Given the description of an element on the screen output the (x, y) to click on. 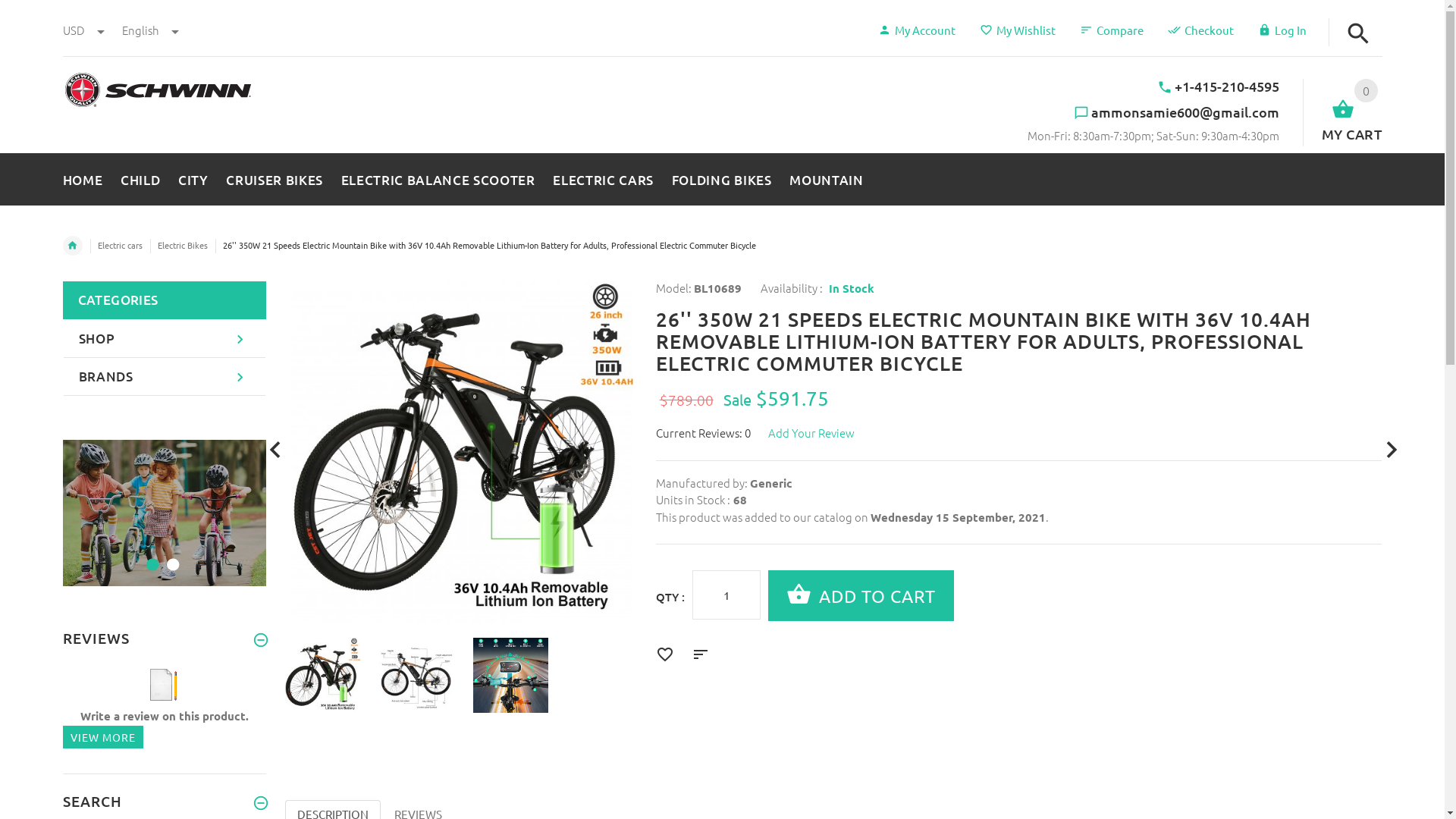
Add to Compare Element type: hover (704, 654)
1 Element type: text (150, 554)
Log In Element type: text (1281, 29)
CITY Element type: text (192, 176)
Write a review on this product. Element type: text (164, 699)
MOUNTAIN Element type: text (821, 176)
Electric cars Element type: text (119, 244)
English Element type: text (149, 29)
 Write a review on this product.  Element type: hover (163, 684)
Add to Wishlist Element type: hover (668, 654)
Compare Element type: text (1111, 29)
Electric Bikes Element type: text (182, 244)
Home Element type: text (71, 245)
2 Element type: text (170, 554)
ELECTRIC BALANCE SCOOTER Element type: text (438, 176)
 next   Element type: text (1391, 450)
FOLDING BIKES Element type: text (721, 176)
CHILD Element type: text (140, 176)
ELECTRIC CARS Element type: text (603, 176)
0
MY CART Element type: text (1342, 111)
My Account Element type: text (916, 29)
HOME Element type: text (86, 176)
My Wishlist Element type: text (1017, 29)
USD Element type: text (84, 29)
CRUISER BIKES Element type: text (273, 176)
VIEW MORE Element type: text (102, 737)
Add Your Review Element type: text (818, 432)
Current Reviews: 0 Element type: text (710, 432)
Checkout Element type: text (1200, 29)
SHOP Element type: text (164, 338)
BRANDS Element type: text (164, 376)
  prev  Element type: text (275, 450)
ADD TO CART Element type: text (877, 595)
